Given the description of an element on the screen output the (x, y) to click on. 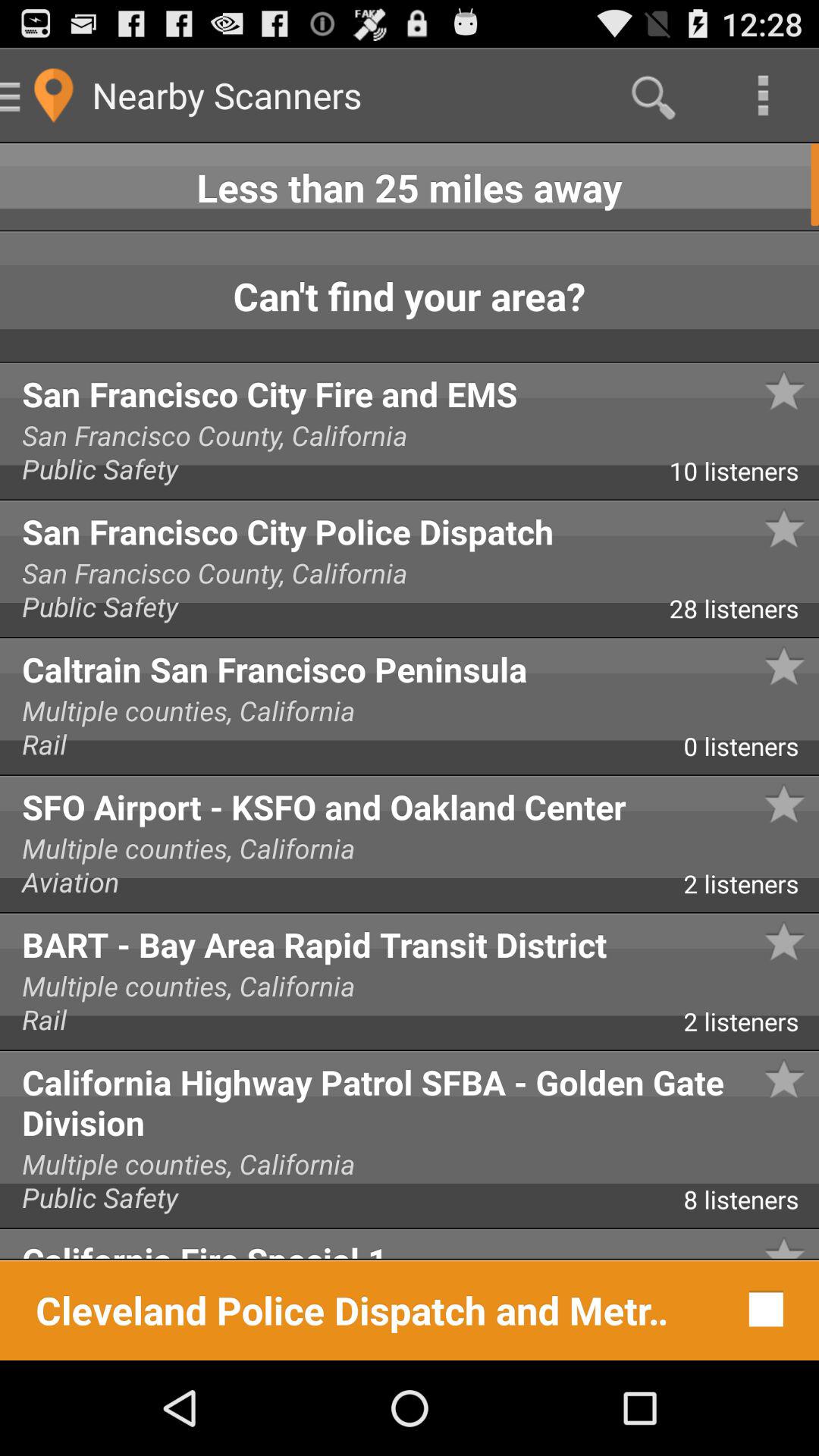
launch item to the right of the public safety app (744, 614)
